Given the description of an element on the screen output the (x, y) to click on. 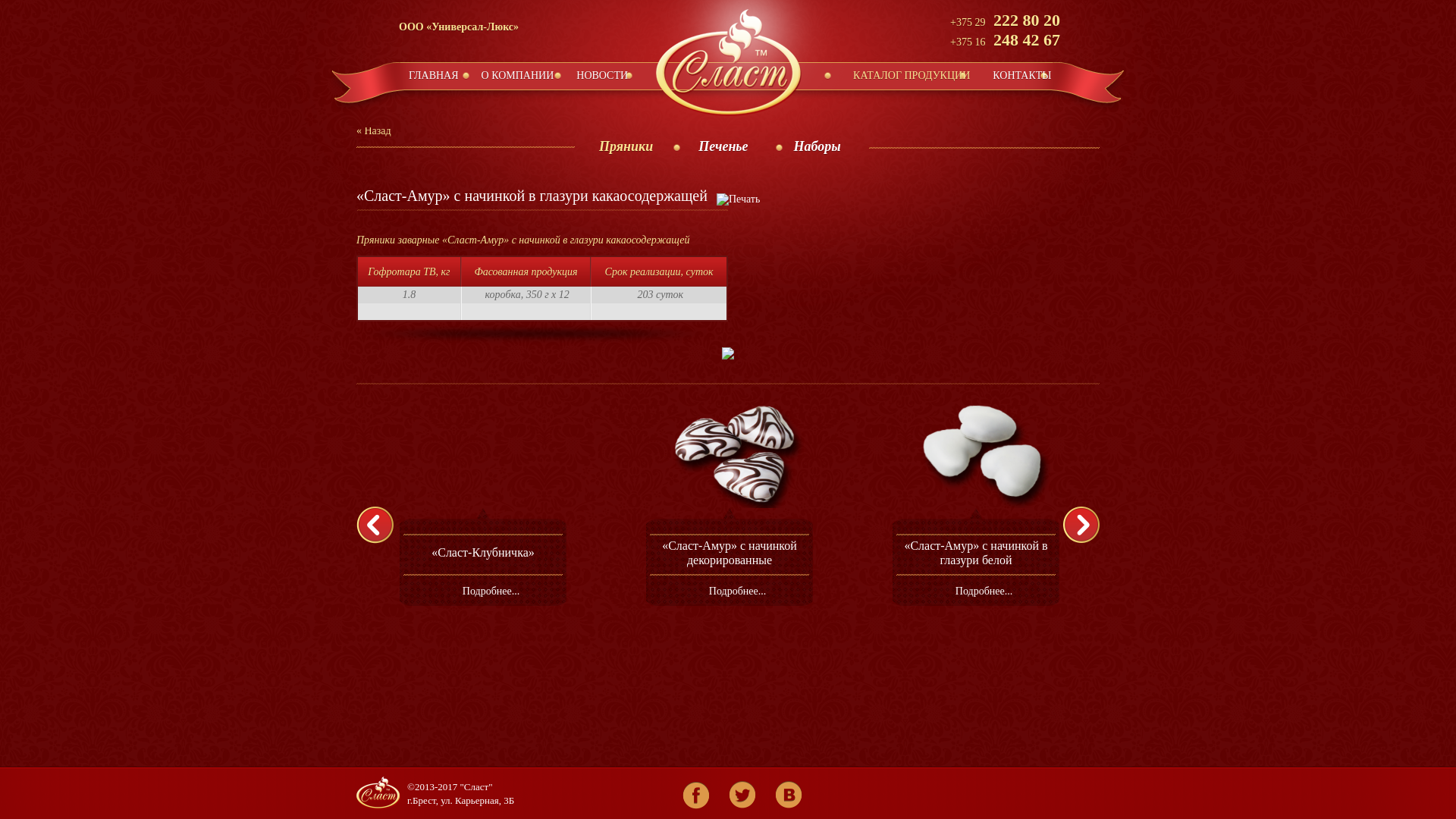
LiveInternet Element type: hover (587, 794)
Next Element type: text (1086, 524)
Previous Element type: text (380, 524)
